Given the description of an element on the screen output the (x, y) to click on. 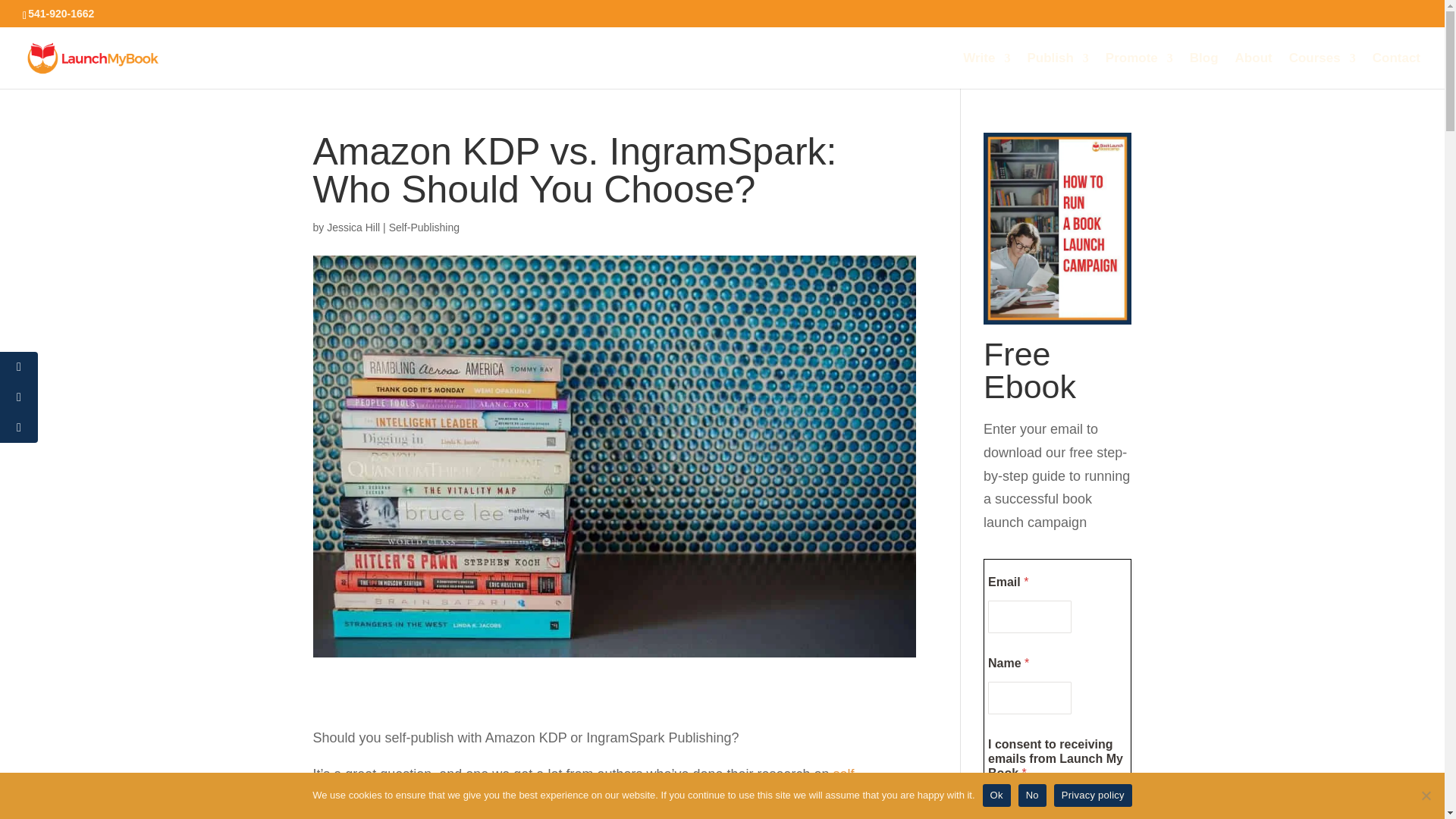
Promote (1139, 70)
No (1425, 795)
Courses (1321, 70)
Contact (1397, 70)
541-920-1662 (60, 13)
Write (986, 70)
Posts by Jessica Hill (353, 227)
Publish (1056, 70)
About (1253, 70)
